Given the description of an element on the screen output the (x, y) to click on. 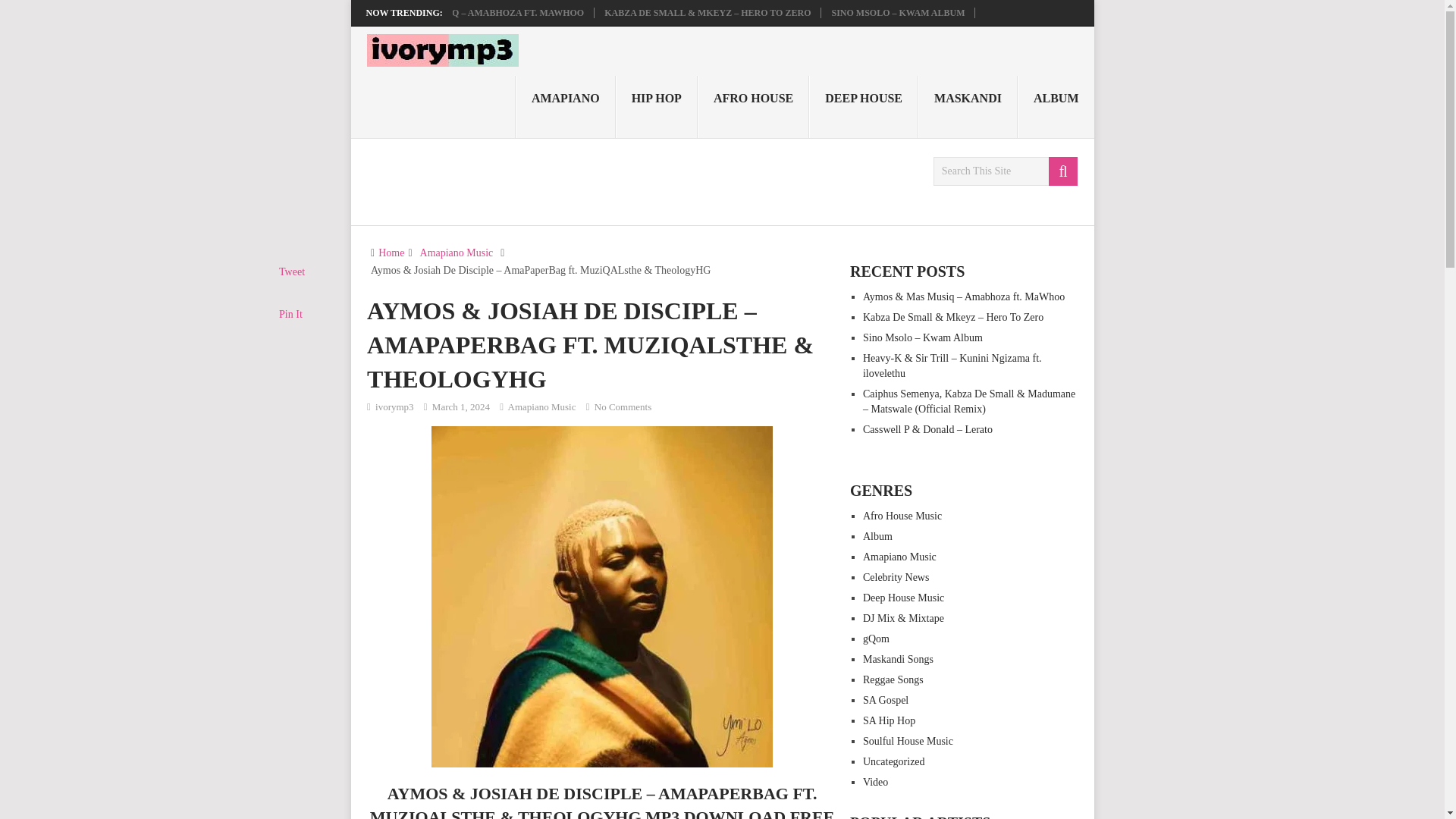
DEEP HOUSE (863, 107)
Pin It (290, 314)
Amapiano Music (456, 252)
Amapiano Music (542, 406)
HIP HOP (656, 107)
View all posts in Amapiano Music (542, 406)
ALBUM (1055, 107)
Tweet (291, 271)
MASKANDI (967, 107)
Home (391, 252)
ivorymp3 (394, 406)
AMAPIANO (565, 107)
No Comments (622, 406)
AFRO HOUSE (753, 107)
Posts by ivorymp3 (394, 406)
